Given the description of an element on the screen output the (x, y) to click on. 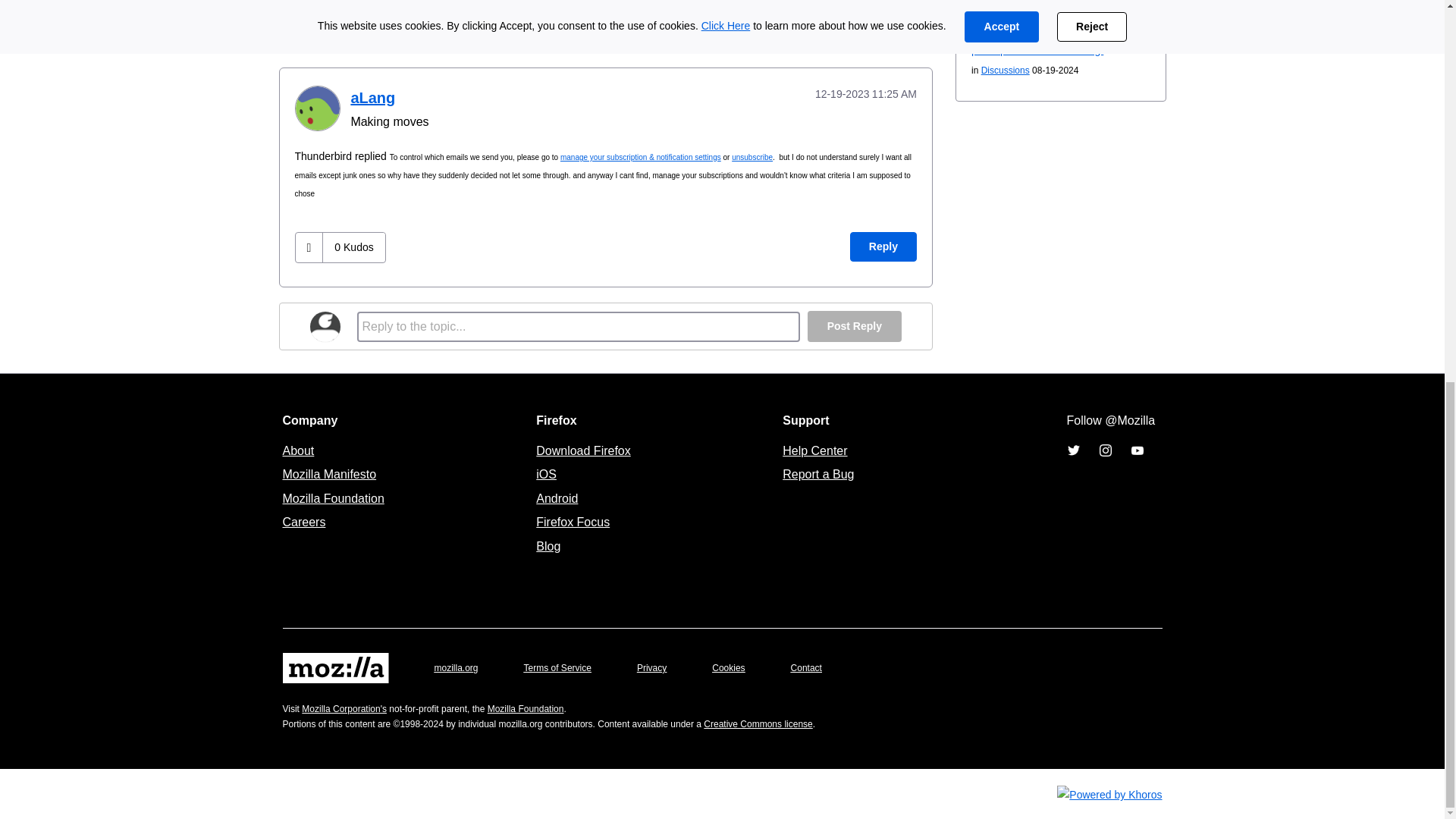
Styling bug with new update (804, 20)
Next Topic (893, 20)
The total number of kudos this post has received. (353, 246)
aLang (316, 108)
Previous Topic (804, 20)
Discussions (710, 20)
Click here to give kudos to this post. (309, 247)
All forum topics (710, 20)
aLang (372, 97)
